Given the description of an element on the screen output the (x, y) to click on. 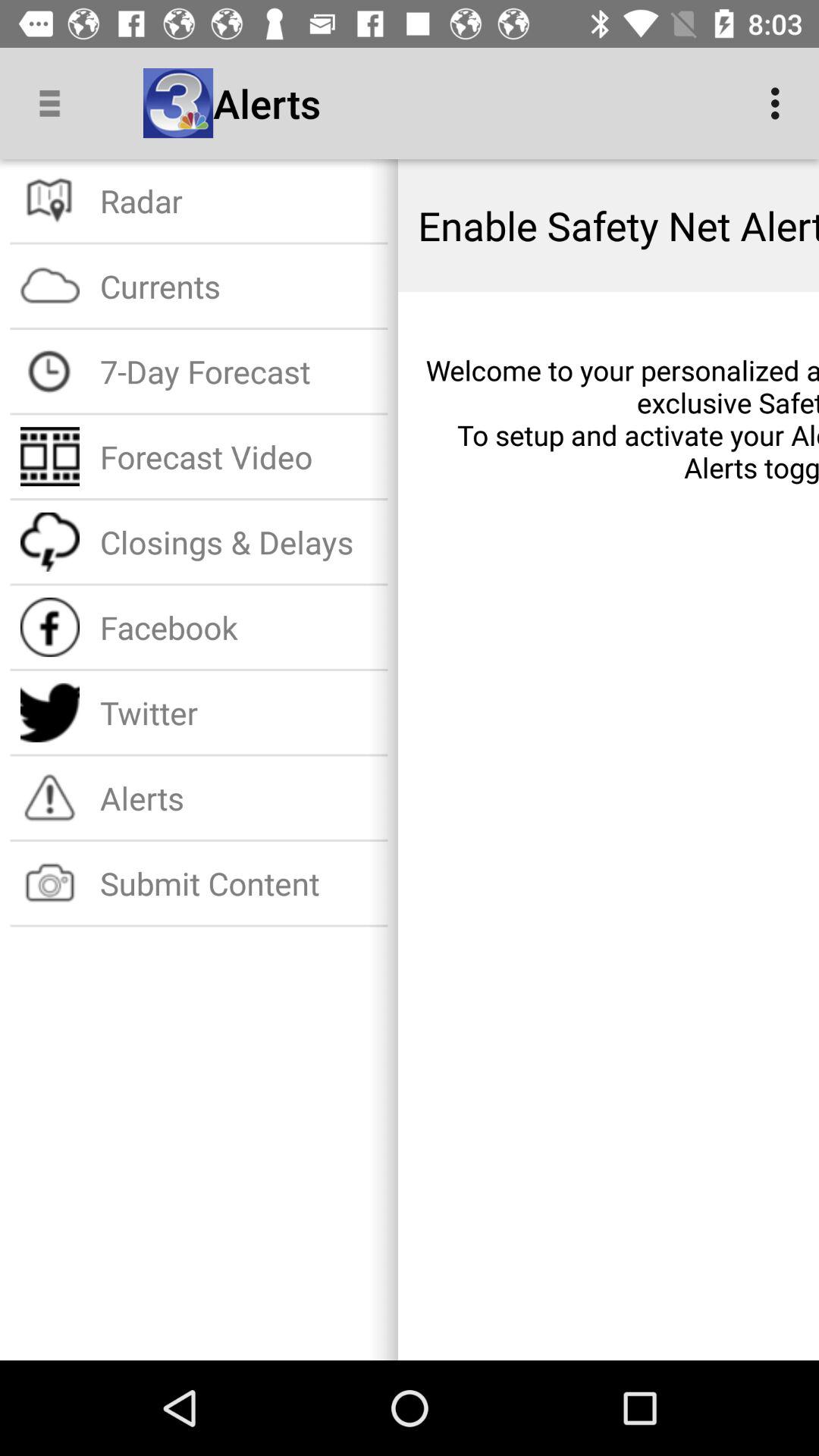
choose icon below 7-day forecast item (238, 456)
